Given the description of an element on the screen output the (x, y) to click on. 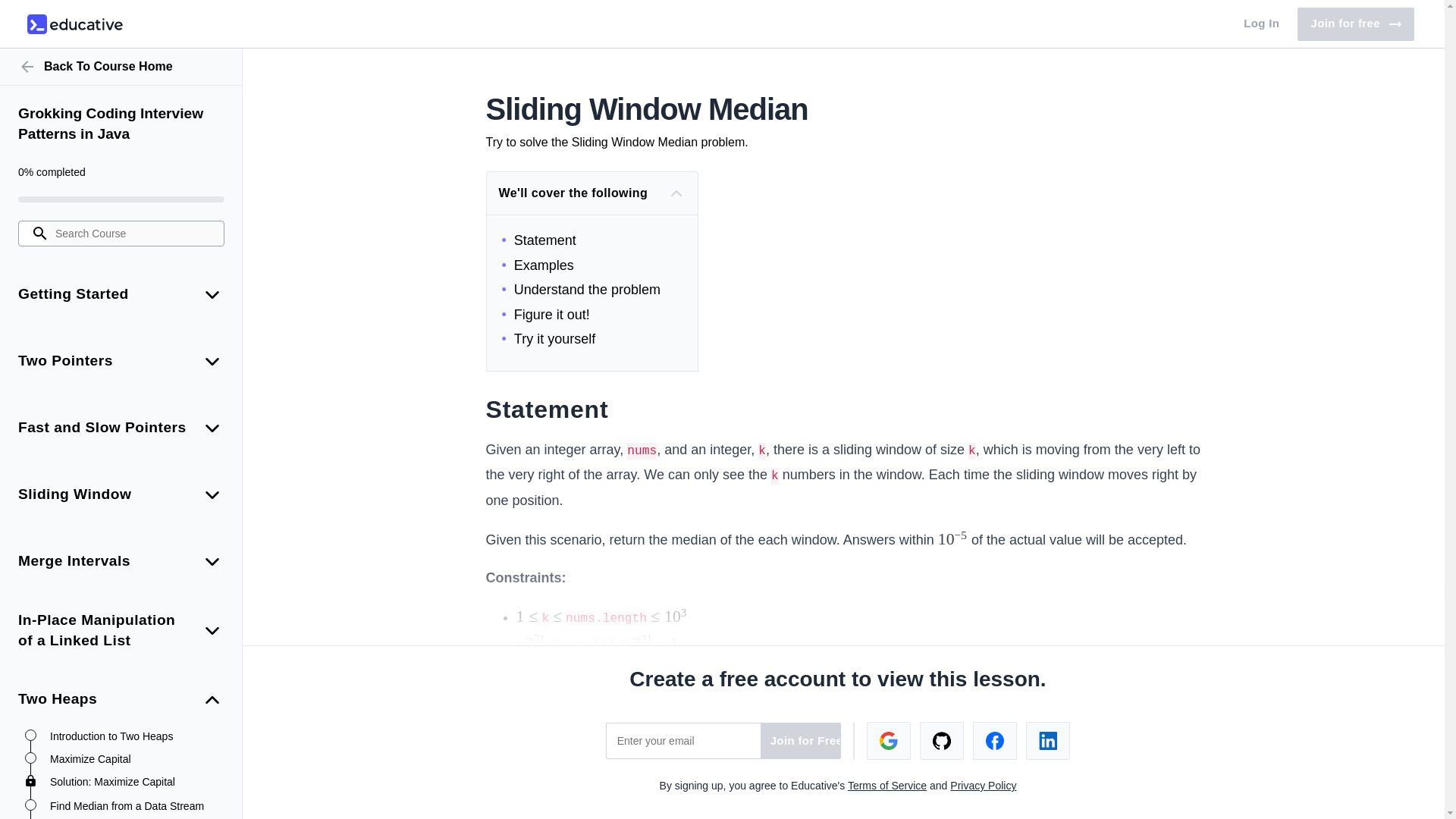
Back To Course Home (121, 66)
Grokking Coding Interview Patterns in Java (121, 124)
educative.io (74, 23)
Log In (1261, 23)
